Given the description of an element on the screen output the (x, y) to click on. 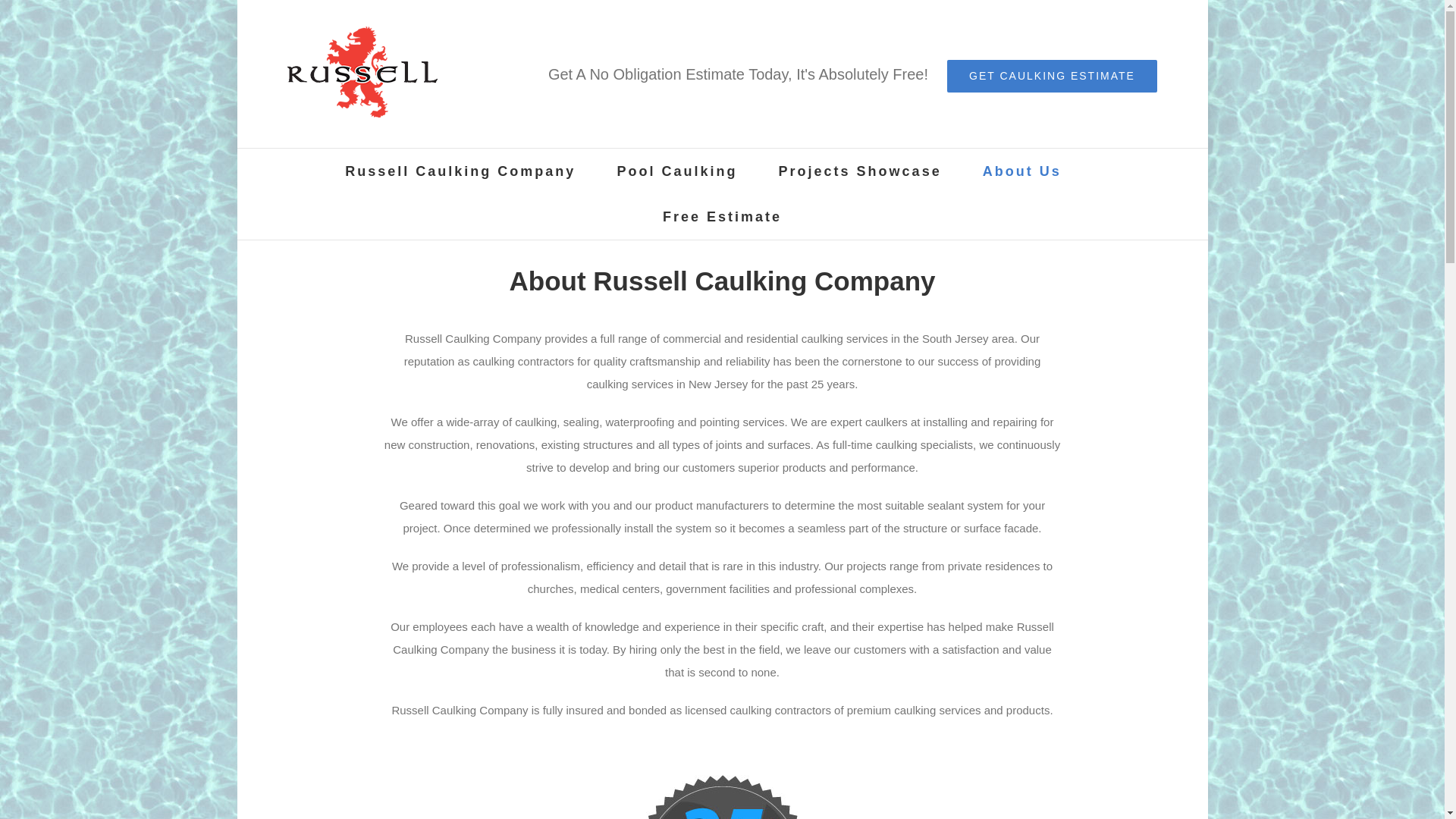
Projects Showcase (860, 171)
Russell Caulking Company (460, 171)
About Us (1021, 171)
Free Estimate (721, 216)
GET CAULKING ESTIMATE (1052, 75)
Pool Caulking (675, 171)
